Given the description of an element on the screen output the (x, y) to click on. 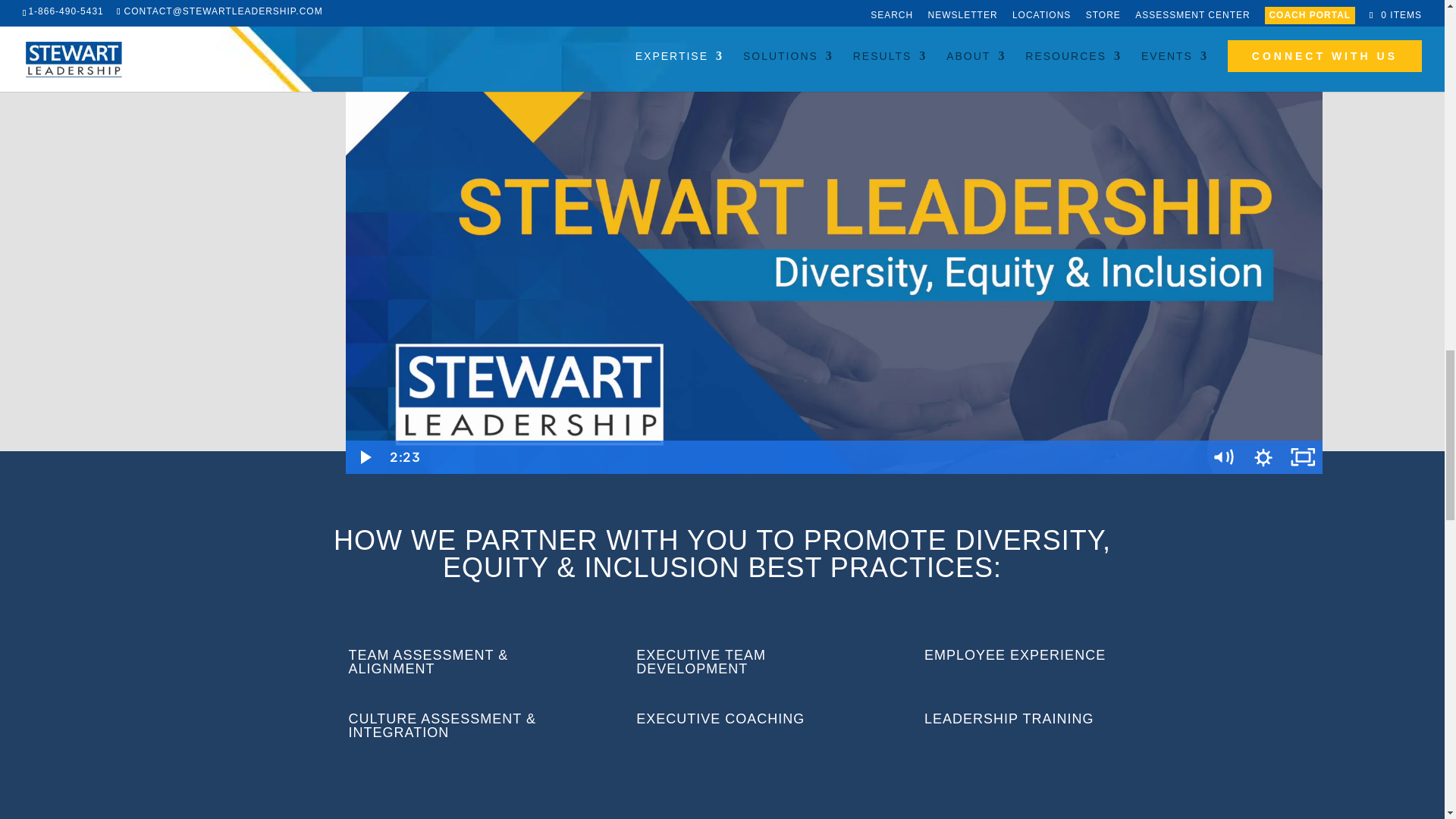
Fullscreen (1302, 457)
Show settings menu (1262, 457)
Play Video (365, 457)
Mute (1223, 457)
